Given the description of an element on the screen output the (x, y) to click on. 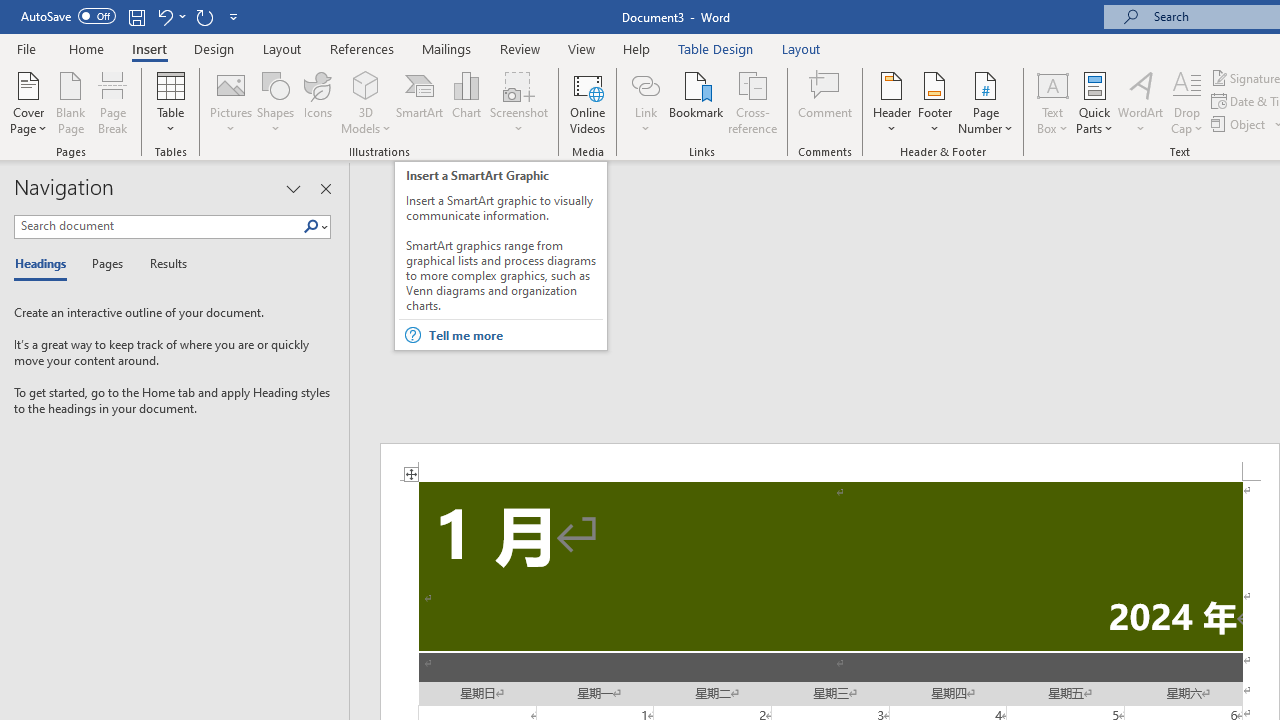
Shapes (275, 102)
Object... (1240, 124)
Link (645, 84)
